Given the description of an element on the screen output the (x, y) to click on. 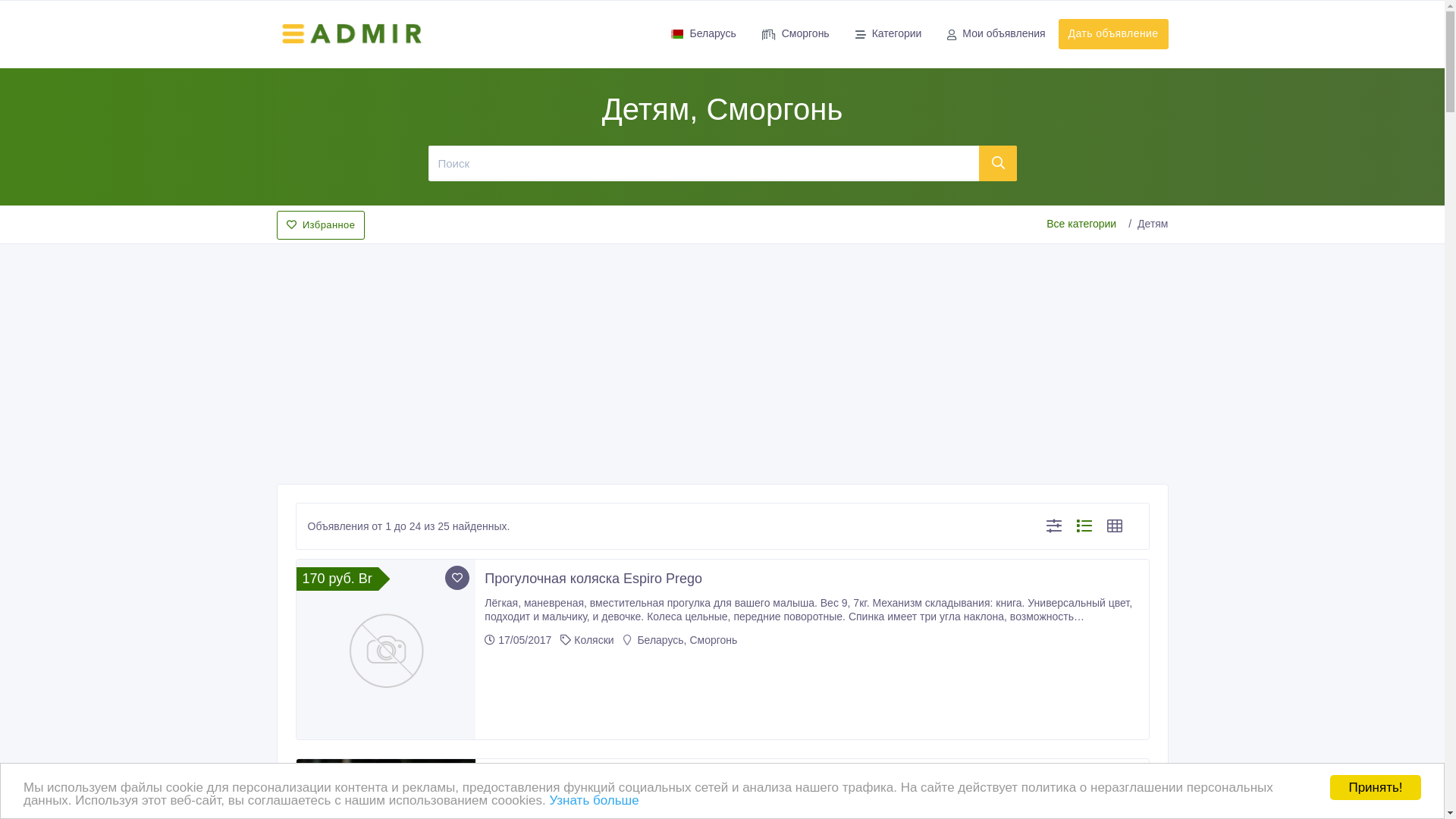
Add to favorite Element type: hover (457, 777)
Advertisement Element type: hover (721, 359)
Add to favorite Element type: hover (457, 577)
